Given the description of an element on the screen output the (x, y) to click on. 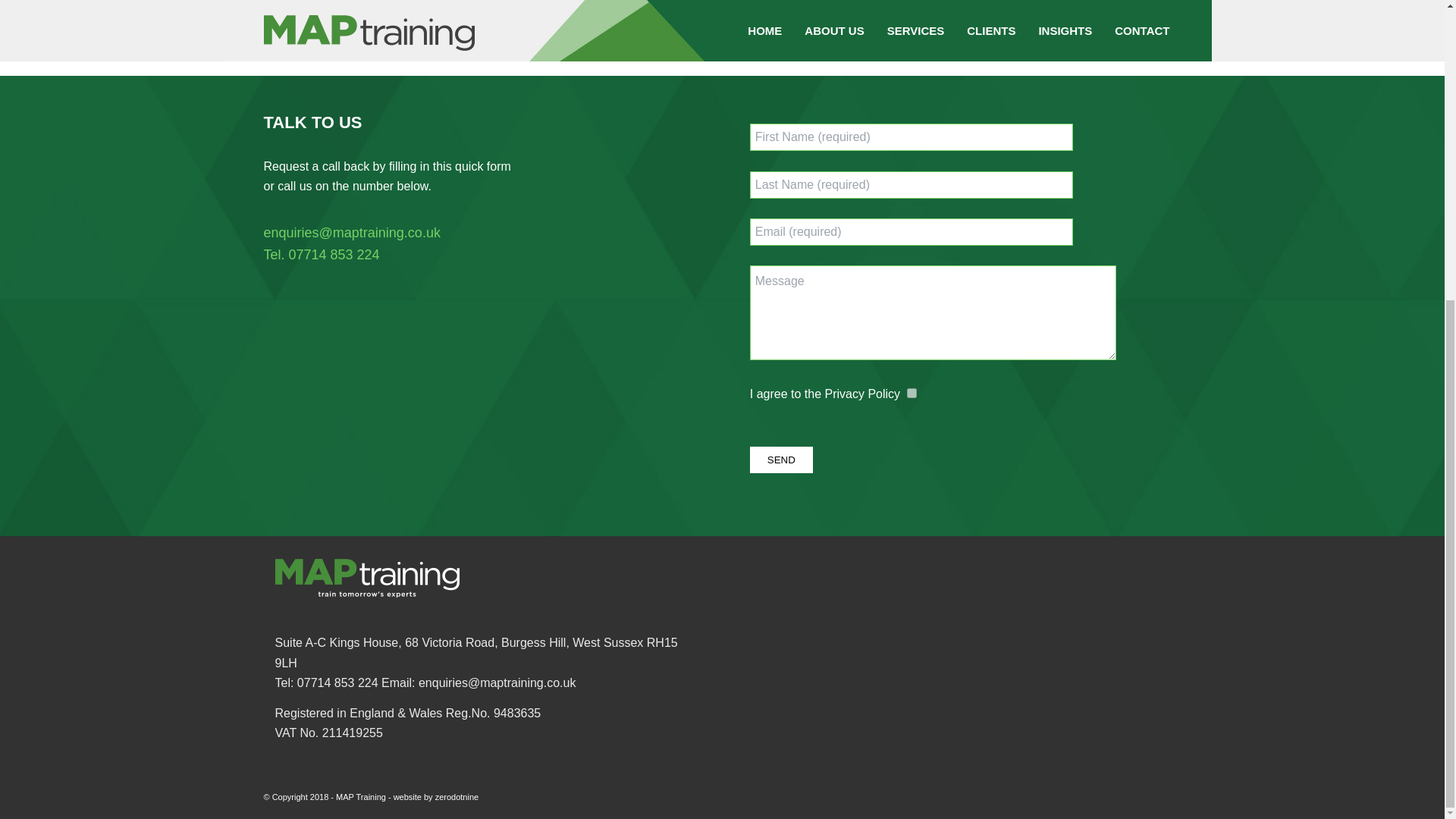
Send (780, 459)
I agree to the Privacy Policy (912, 393)
Send (780, 459)
